Given the description of an element on the screen output the (x, y) to click on. 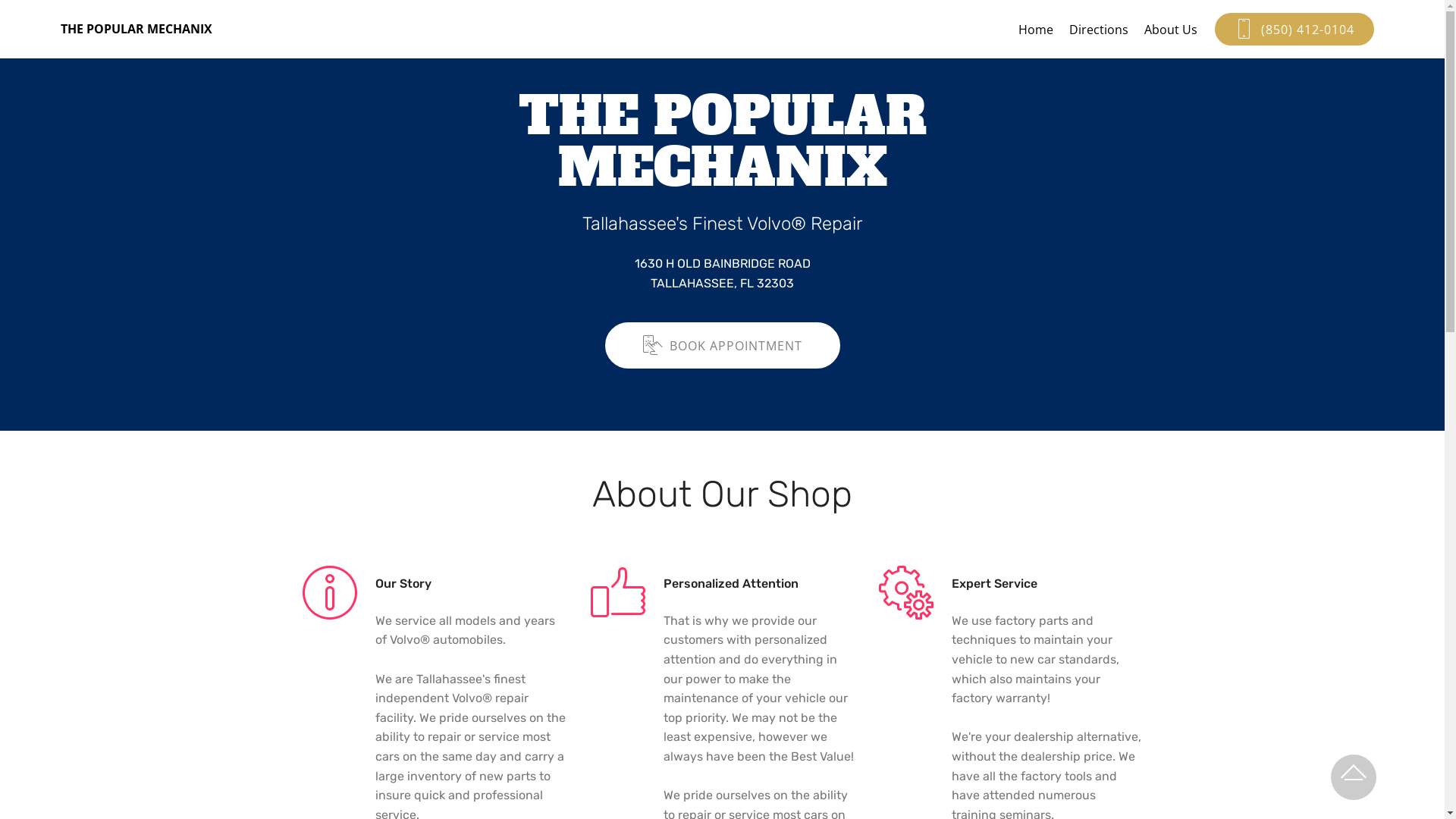
Home Element type: text (1035, 28)
About Us Element type: text (1170, 28)
BOOK APPOINTMENT Element type: text (722, 345)
THE POPULAR MECHANIX Element type: text (148, 28)
(850) 412-0104 Element type: text (1294, 28)
Directions Element type: text (1098, 28)
